Given the description of an element on the screen output the (x, y) to click on. 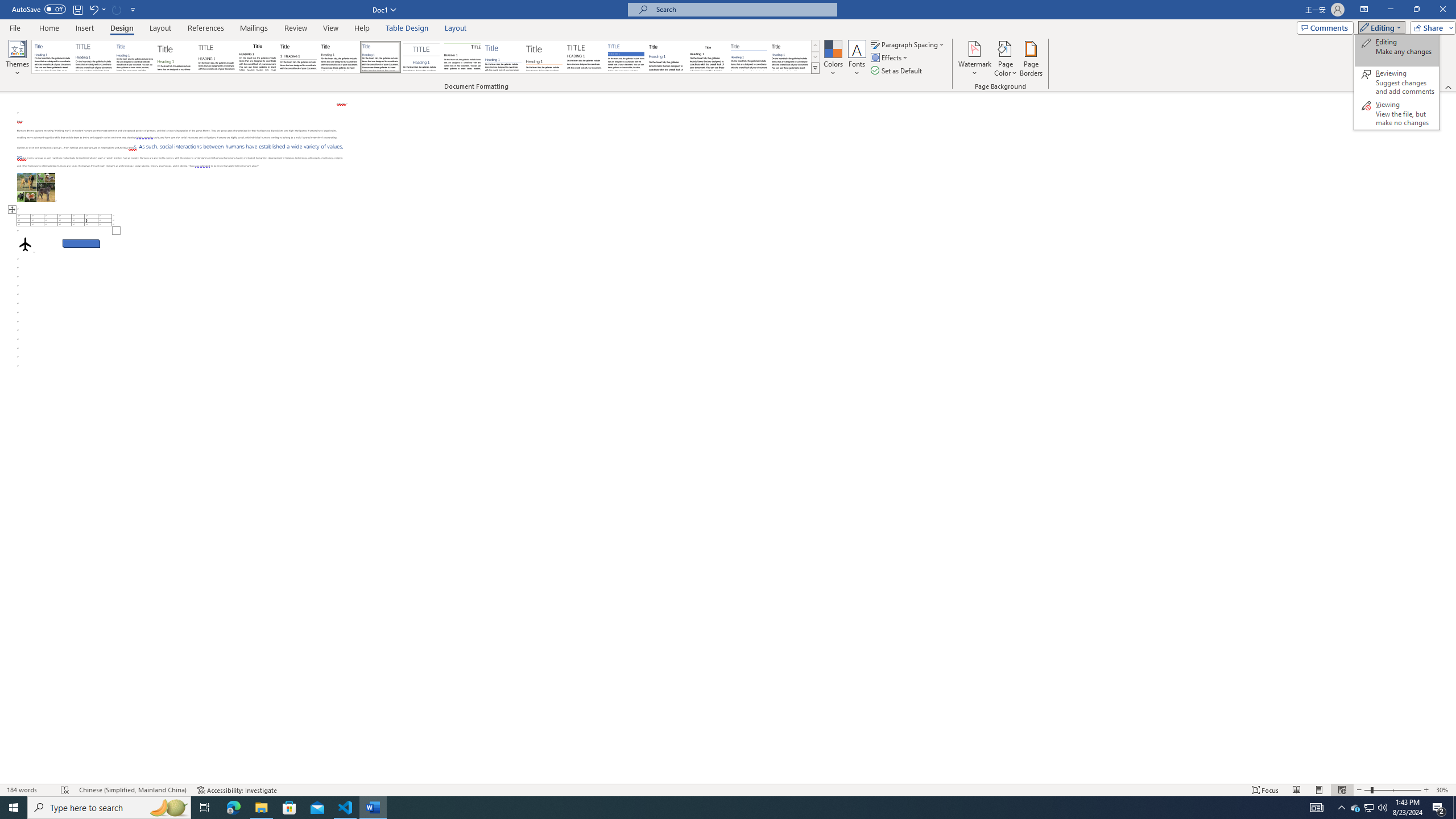
Word 2003 (707, 56)
AutomationID: QuickStylesSets (425, 56)
Can't Repeat (117, 9)
Undo Apply Quick Style Set (96, 9)
Page Color (1005, 58)
